Given the description of an element on the screen output the (x, y) to click on. 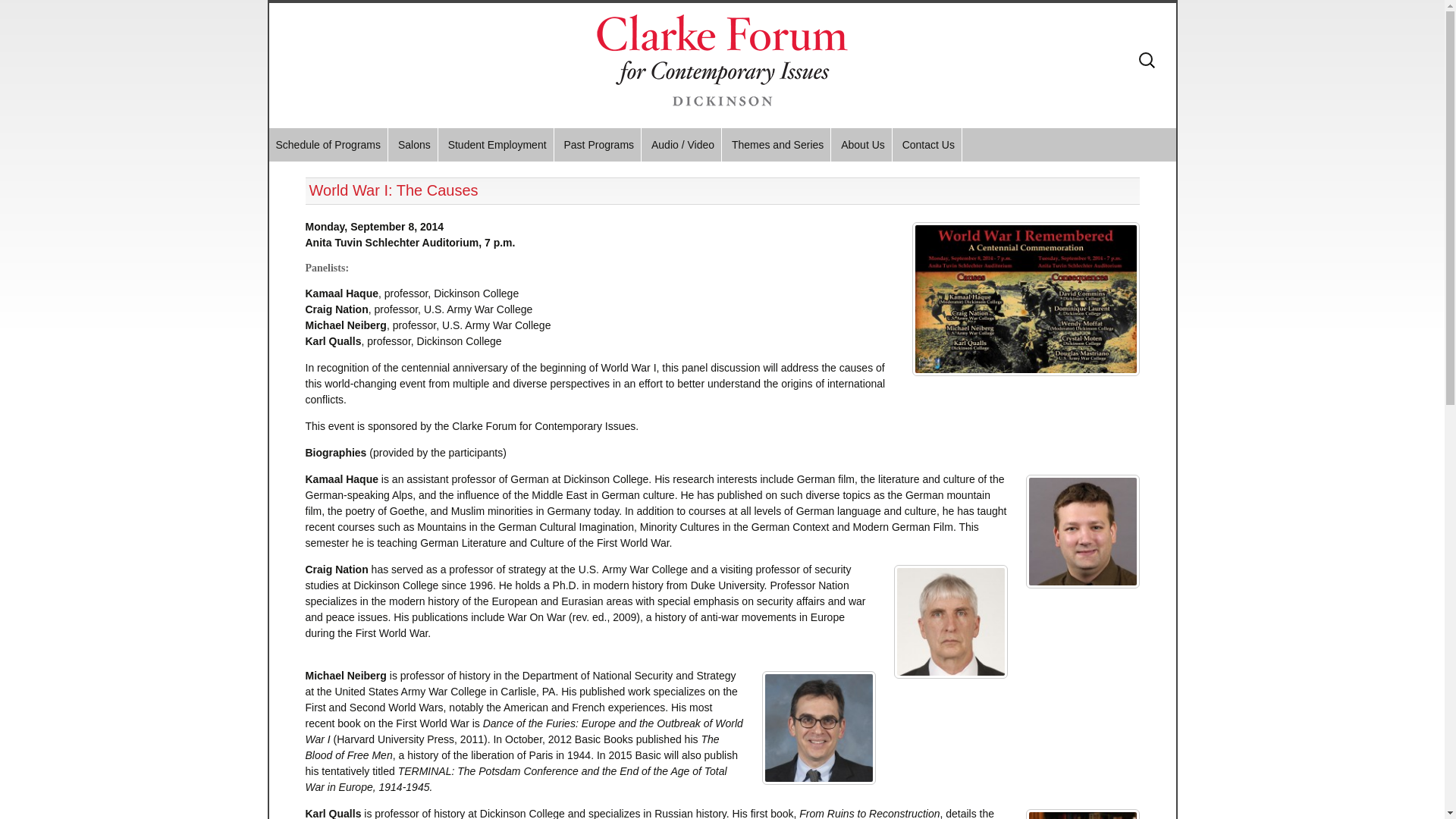
Search (18, 15)
Schedule of Programs (327, 144)
Past Programs (598, 144)
Themes and Series (777, 144)
Salons (414, 144)
Contact Us (927, 144)
About Us (862, 144)
Student Employment (497, 144)
